Given the description of an element on the screen output the (x, y) to click on. 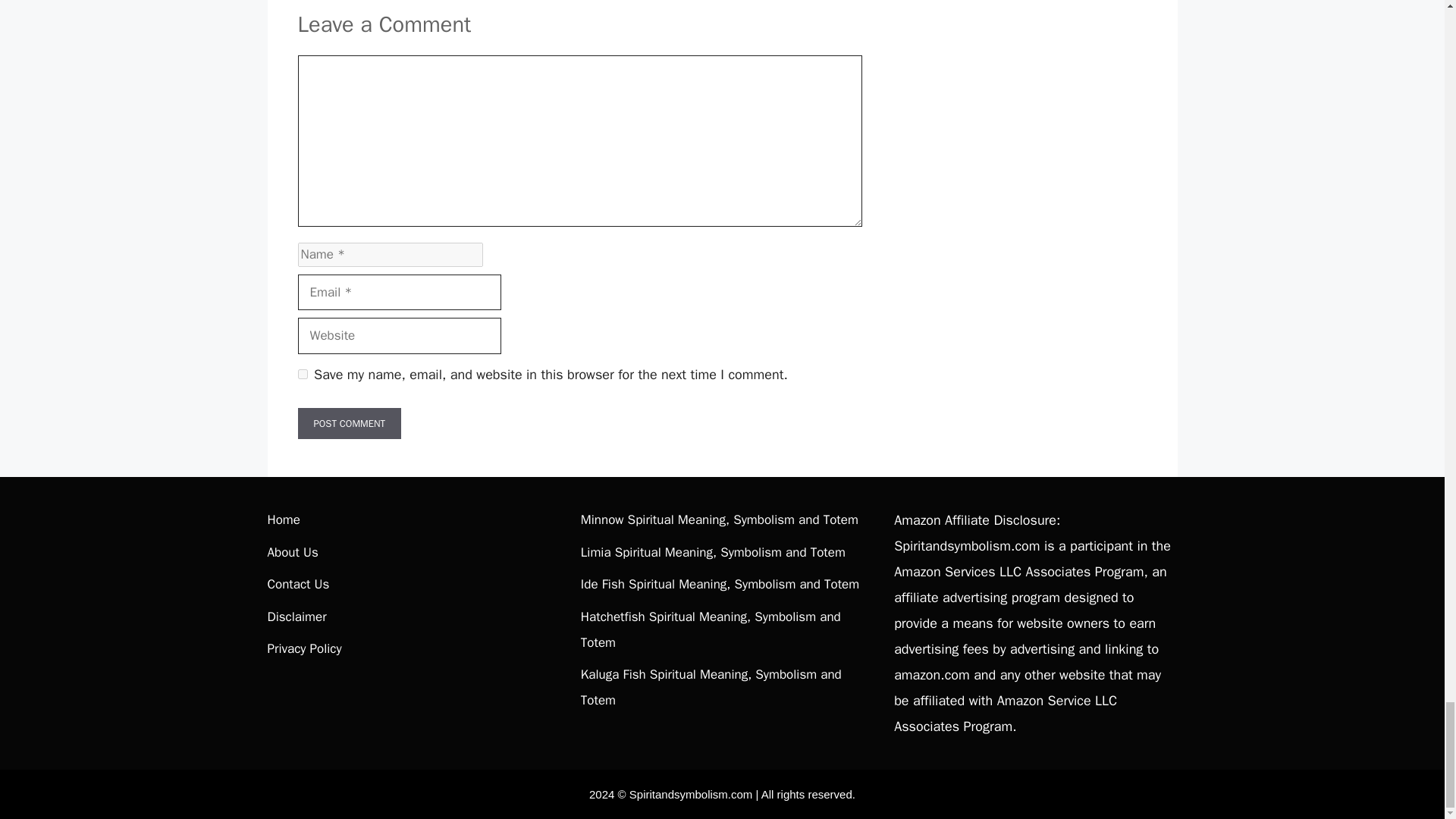
Disclaimer (296, 616)
About Us (291, 552)
Post Comment (349, 423)
Privacy Policy (303, 648)
Post Comment (349, 423)
yes (302, 374)
Minnow Spiritual Meaning, Symbolism and Totem (719, 519)
Contact Us (297, 584)
Home (282, 519)
